Given the description of an element on the screen output the (x, y) to click on. 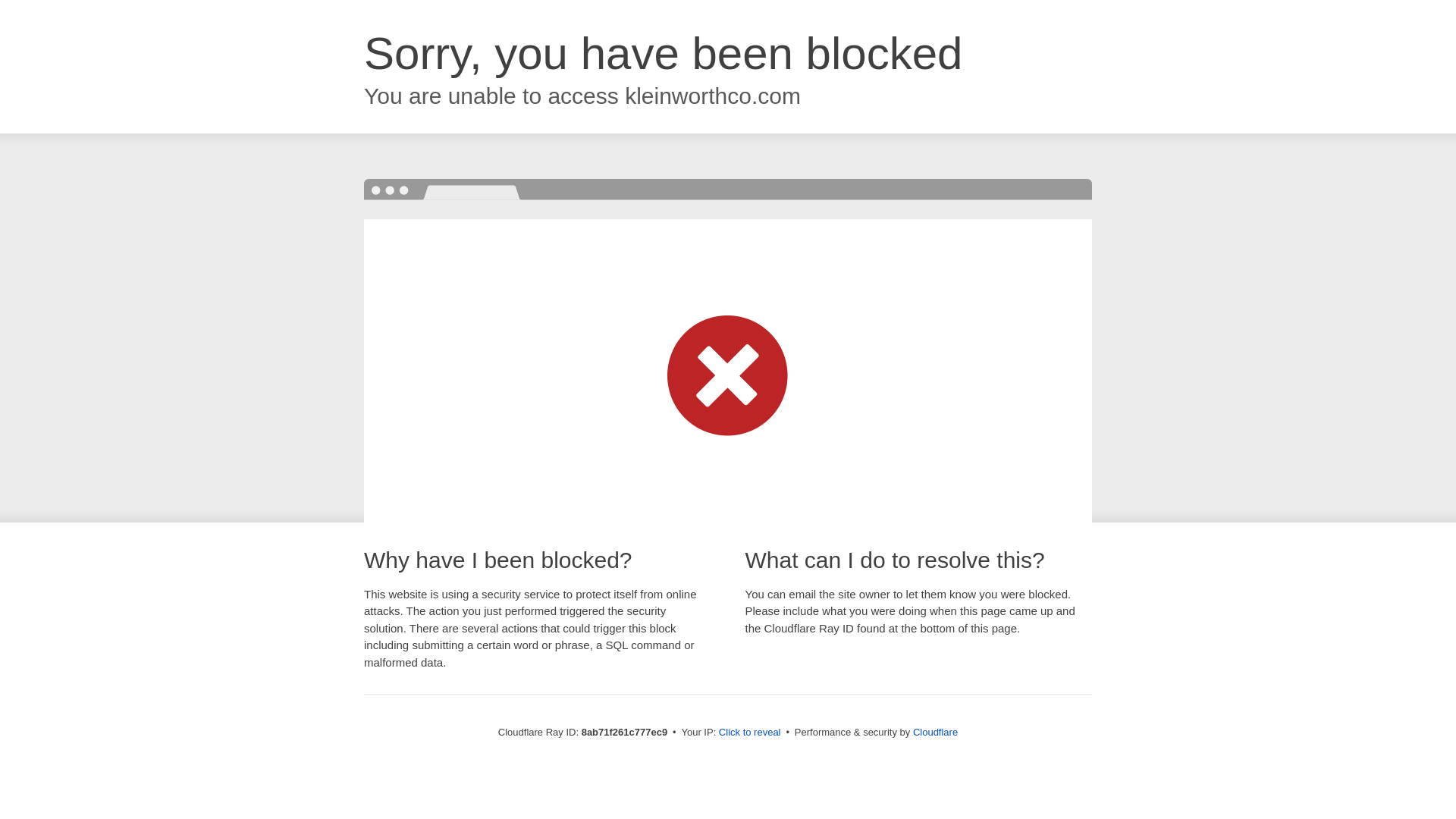
Click to reveal (749, 732)
Cloudflare (935, 731)
